Given the description of an element on the screen output the (x, y) to click on. 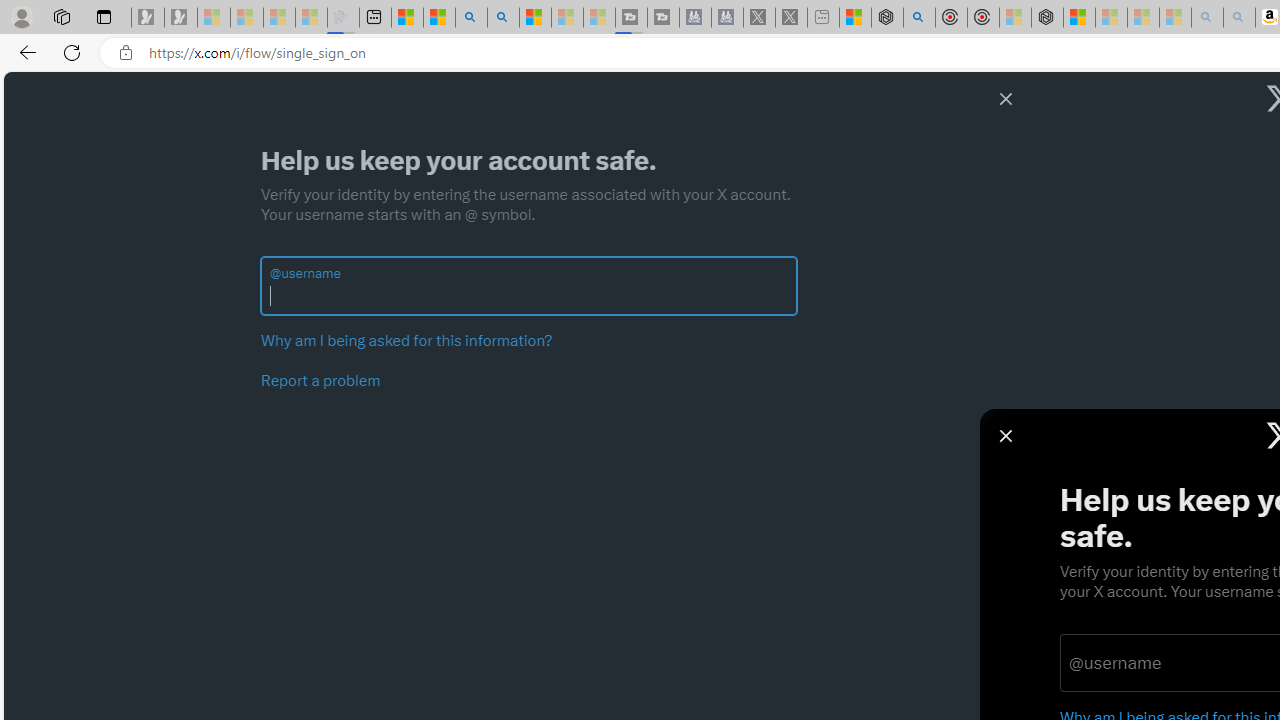
@username (529, 295)
poe - Search (919, 17)
